Given the description of an element on the screen output the (x, y) to click on. 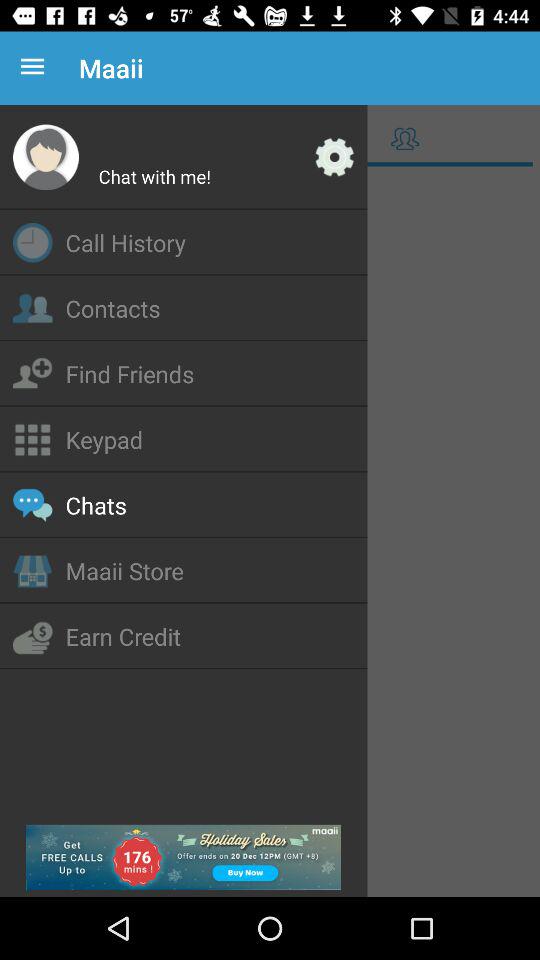
choose the icon to the left of the maaii icon (36, 68)
